Given the description of an element on the screen output the (x, y) to click on. 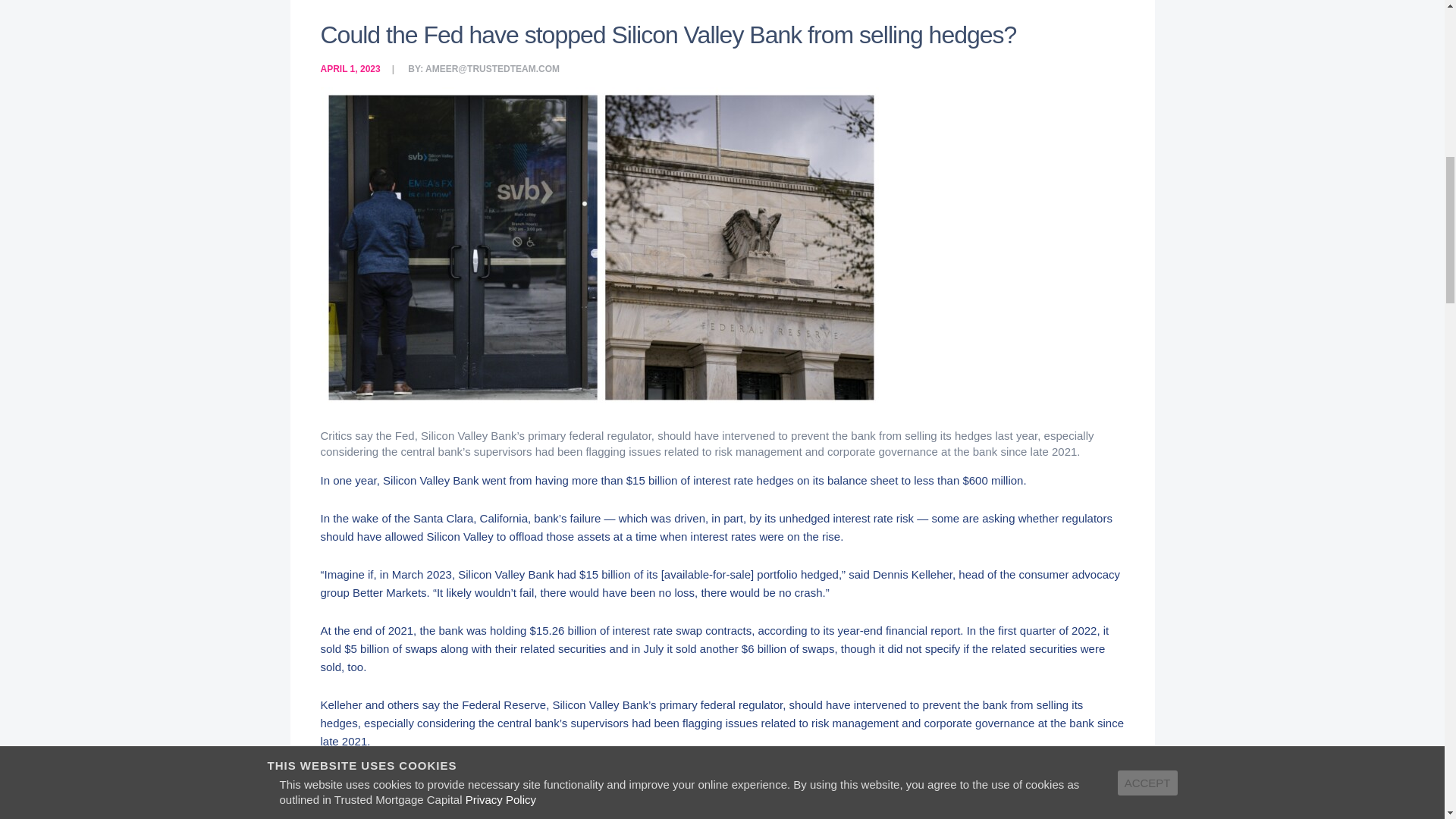
a House hearing on the banking crisis (694, 797)
